Given the description of an element on the screen output the (x, y) to click on. 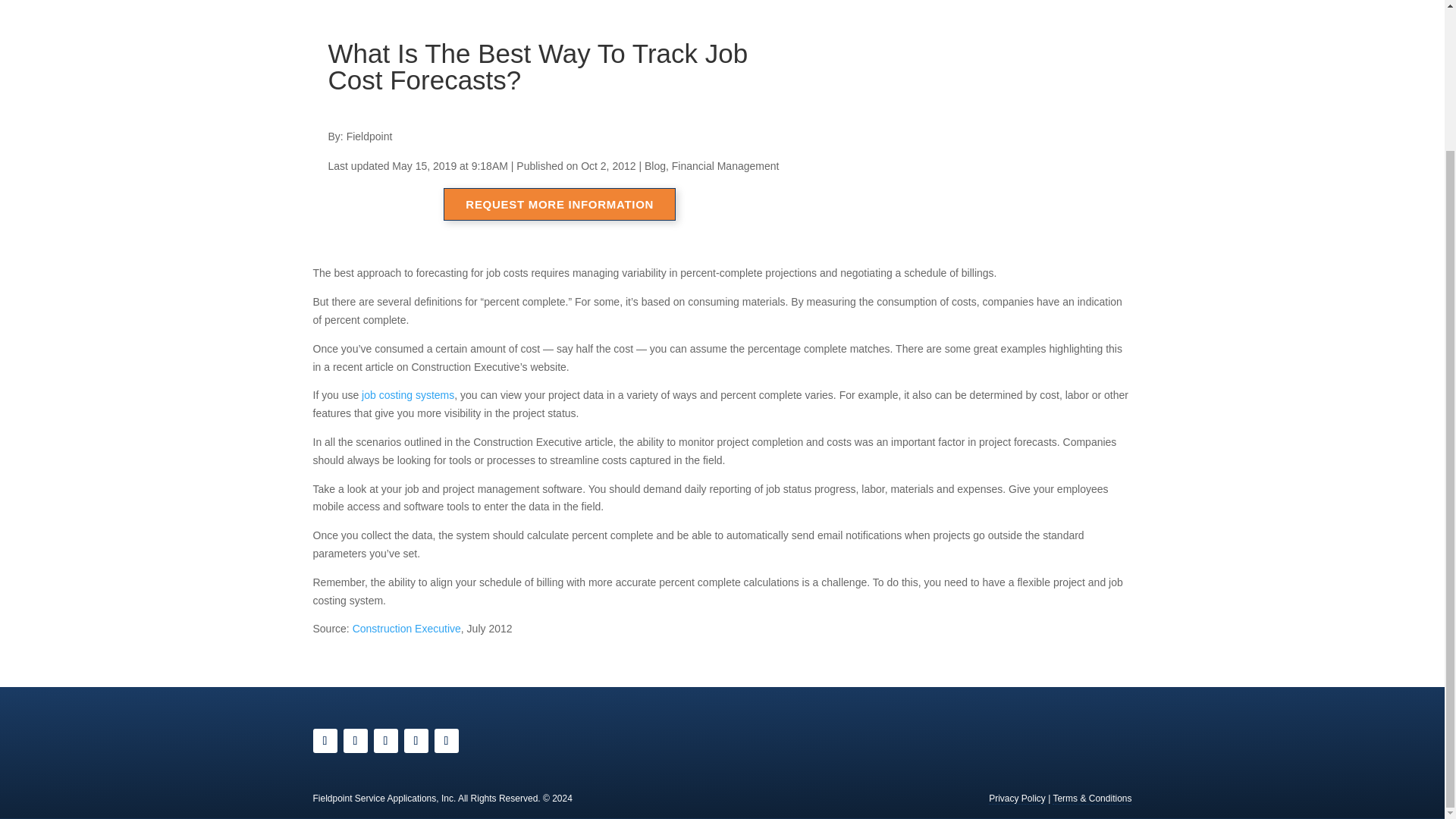
Follow on Facebook (324, 740)
Follow on Youtube (415, 740)
Follow on Instagram (354, 740)
Follow on LinkedIn (445, 740)
Follow on X (384, 740)
